Given the description of an element on the screen output the (x, y) to click on. 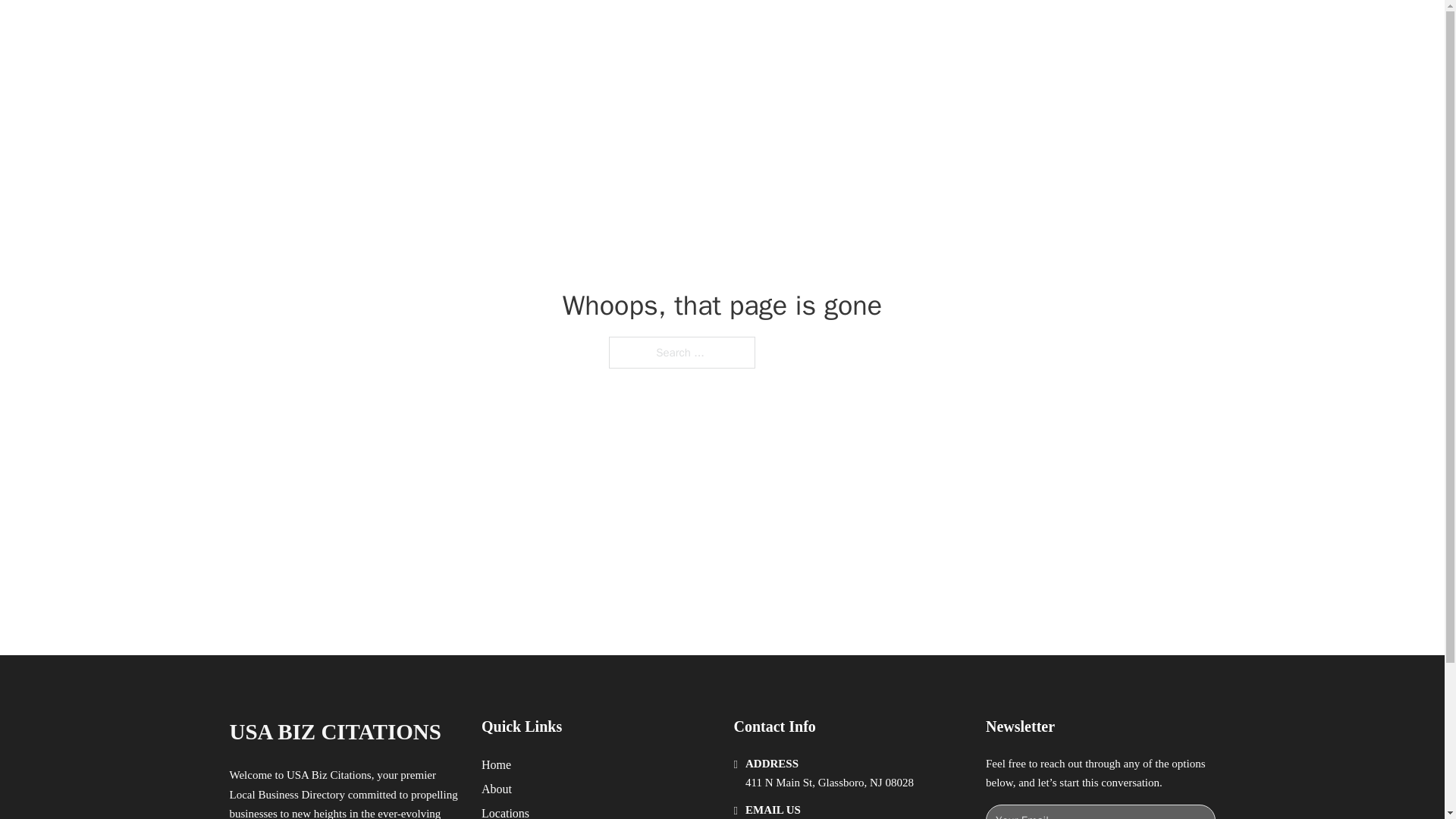
USA BIZ CITATIONS (406, 28)
USA BIZ CITATIONS (334, 732)
HOME (919, 29)
Home (496, 764)
Locations (505, 811)
LOCATIONS (990, 29)
About (496, 788)
